Given the description of an element on the screen output the (x, y) to click on. 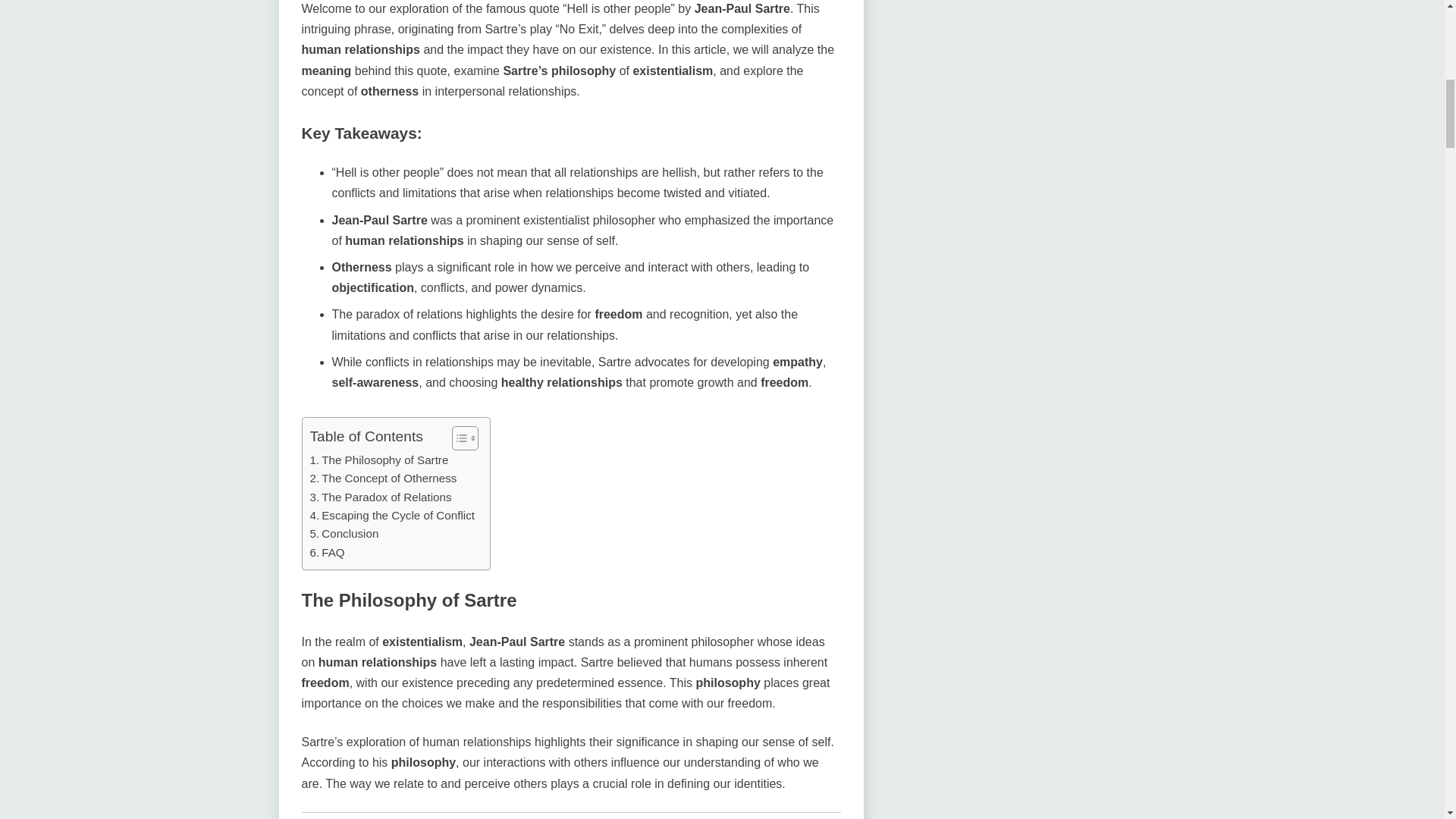
The Concept of Otherness (382, 478)
Conclusion (343, 533)
Conclusion (343, 533)
The Paradox of Relations (379, 497)
FAQ (325, 552)
Escaping the Cycle of Conflict (391, 515)
Escaping the Cycle of Conflict (391, 515)
The Concept of Otherness (382, 478)
The Philosophy of Sartre (378, 460)
The Paradox of Relations (379, 497)
FAQ (325, 552)
The Philosophy of Sartre (378, 460)
